Given the description of an element on the screen output the (x, y) to click on. 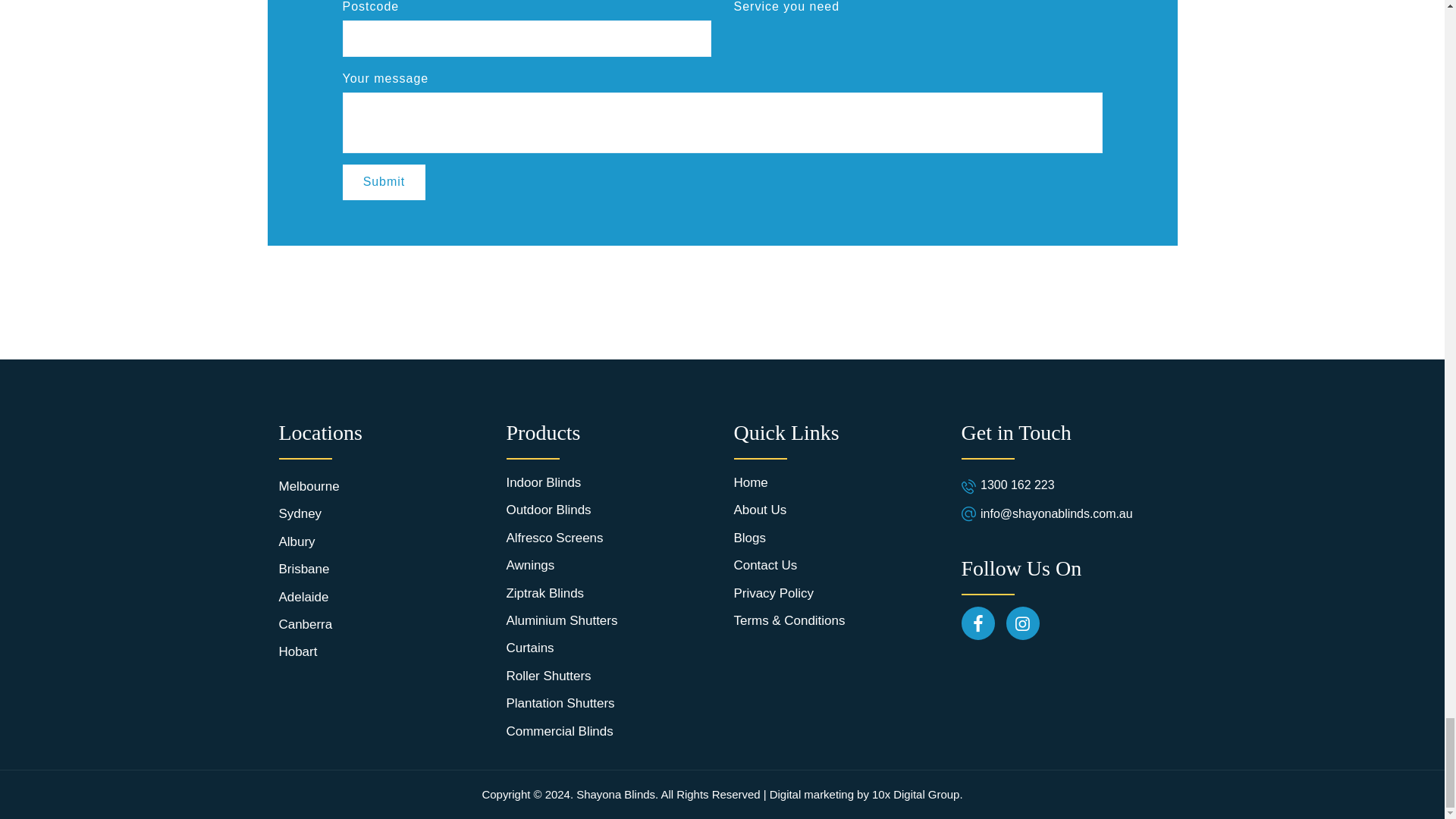
Submit (384, 181)
